Given the description of an element on the screen output the (x, y) to click on. 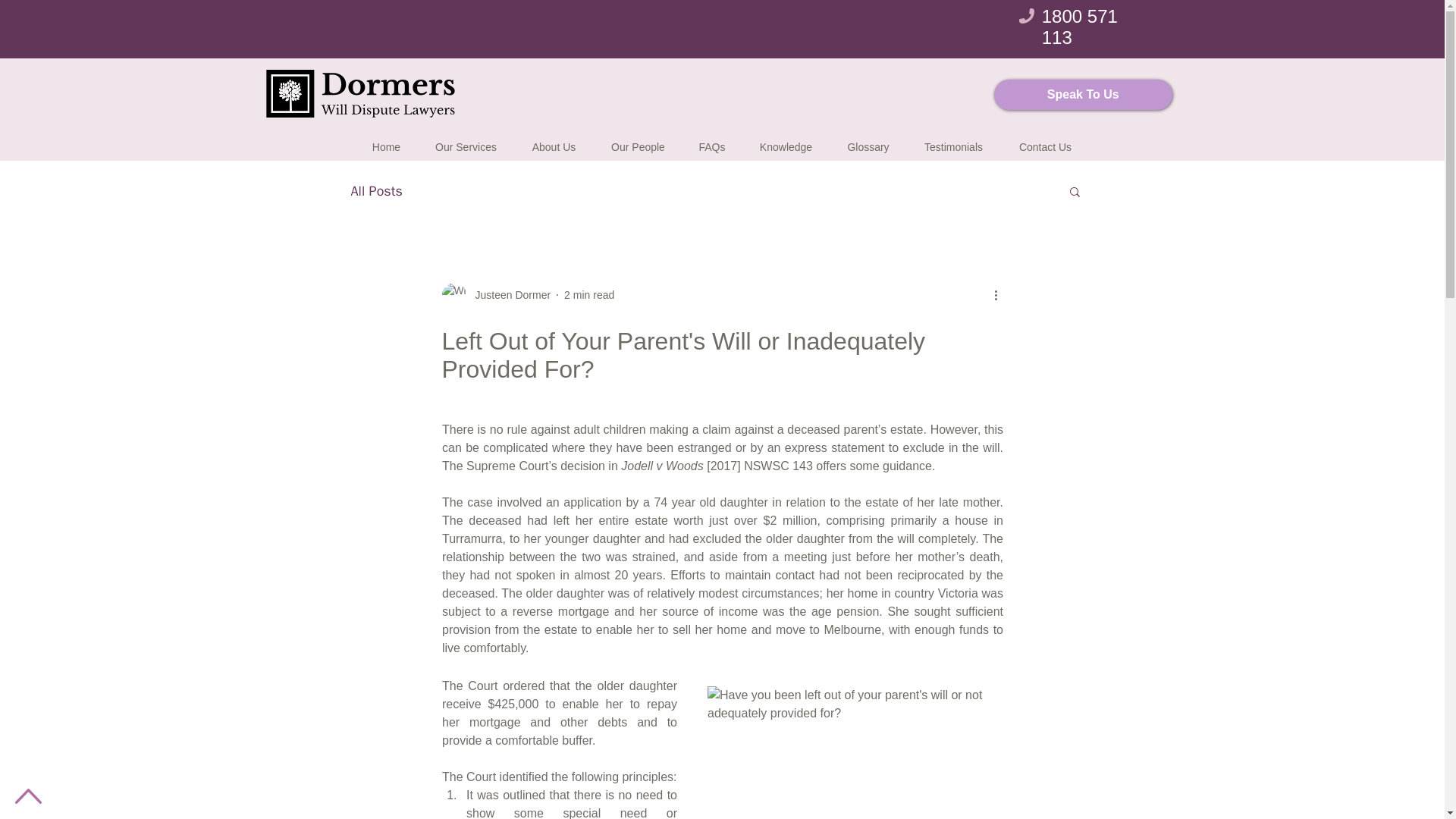
Home (385, 140)
FAQs (711, 140)
1800 571 113 (1080, 26)
Glossary (868, 140)
Testimonials (953, 140)
2 min read (589, 294)
Justeen Dormer (507, 294)
Knowledge (786, 140)
Contact Us (1045, 140)
All Posts (375, 190)
Our Services (464, 140)
About Us (552, 140)
Speak To Us (1083, 94)
Our People (637, 140)
